Given the description of an element on the screen output the (x, y) to click on. 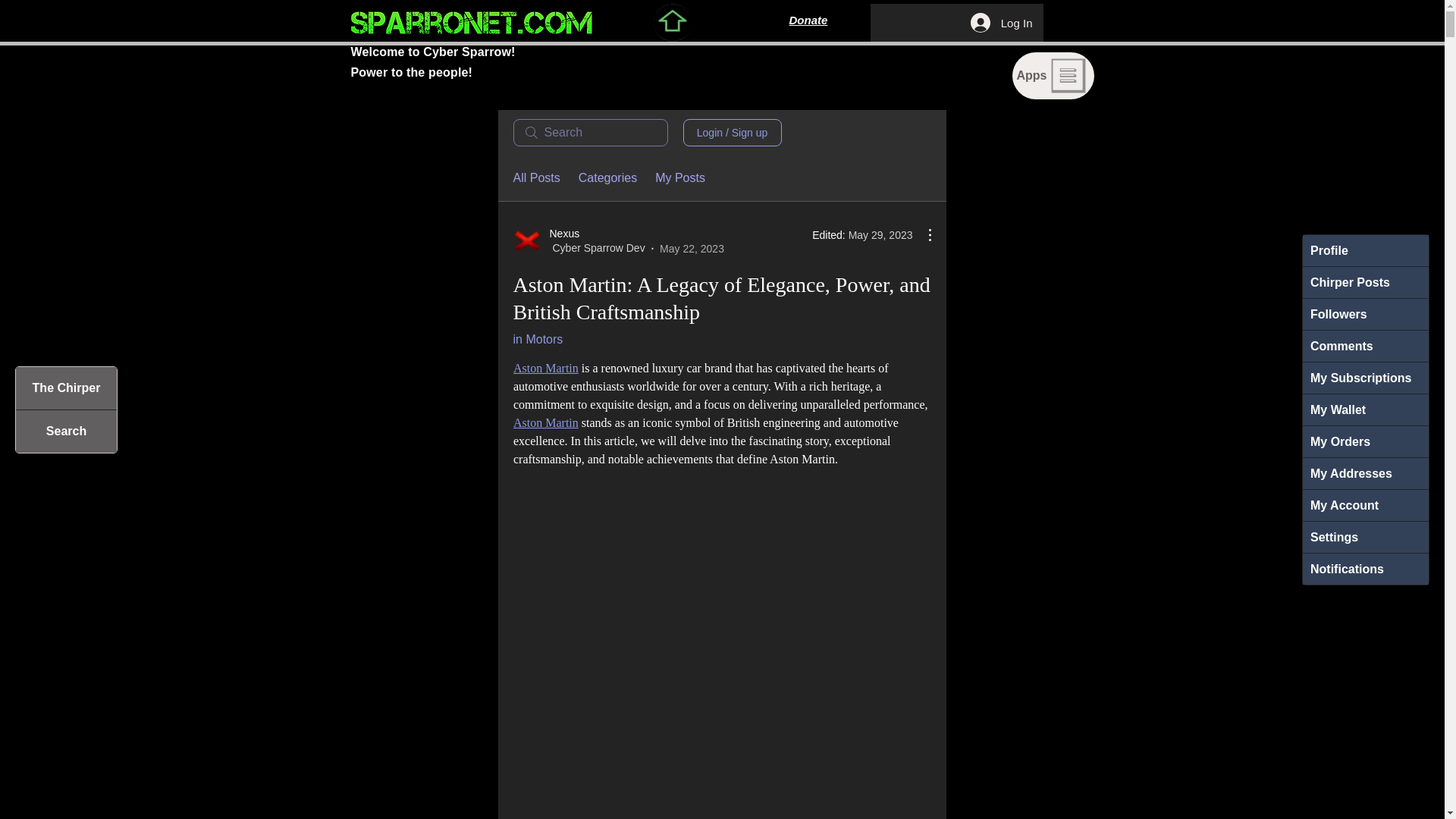
Apps (1052, 75)
Search (66, 430)
Followers (1365, 314)
My Subscriptions (1365, 377)
The Chirper (66, 387)
Notifications (1365, 568)
Log In (1001, 22)
My Account (1365, 504)
Chirper Posts (1365, 282)
My Wallet (1365, 409)
My Posts (679, 177)
All Posts (535, 177)
Settings (1365, 536)
My Addresses (1365, 472)
Comments (1365, 345)
